Given the description of an element on the screen output the (x, y) to click on. 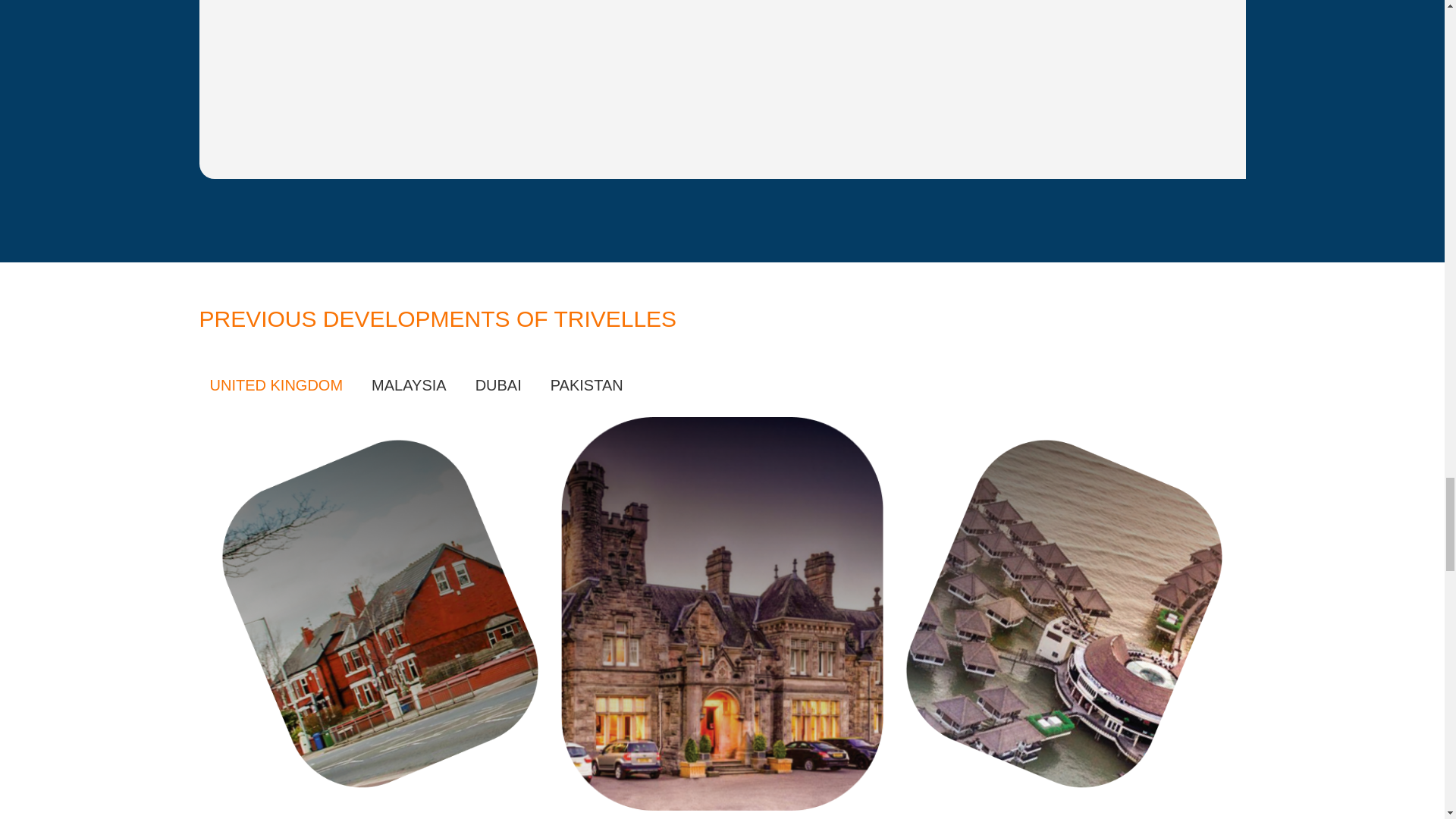
PAKISTAN (586, 385)
DUBAI (498, 385)
UNITED KINGDOM (275, 385)
MALAYSIA (409, 385)
